Given the description of an element on the screen output the (x, y) to click on. 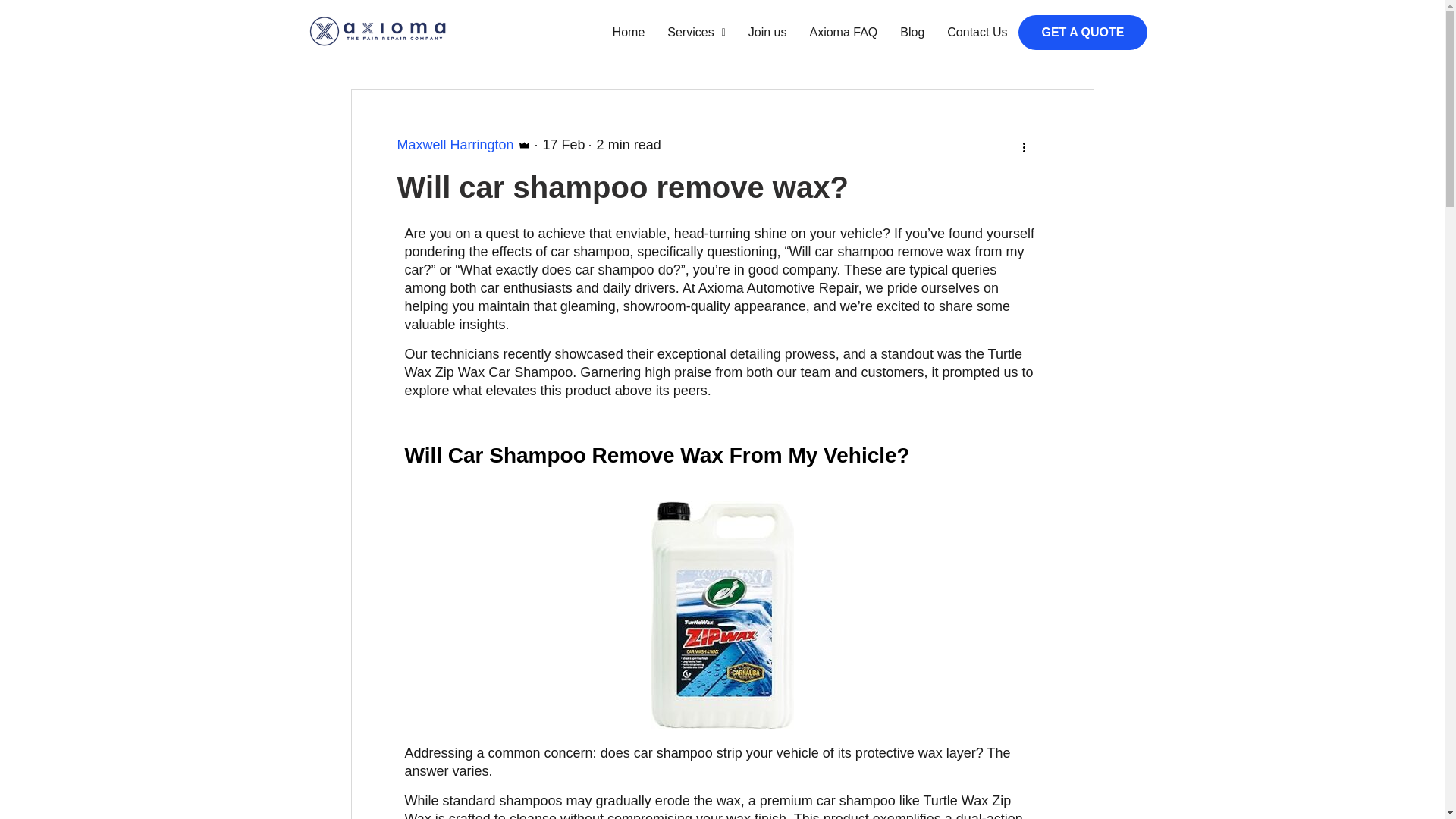
Home (628, 32)
Axioma FAQ (842, 32)
Maxwell Harrington (464, 144)
Services (696, 32)
Contact Us (976, 32)
Maxwell Harrington (464, 144)
Blog (912, 32)
GET A QUOTE (1082, 32)
Join us (766, 32)
